Given the description of an element on the screen output the (x, y) to click on. 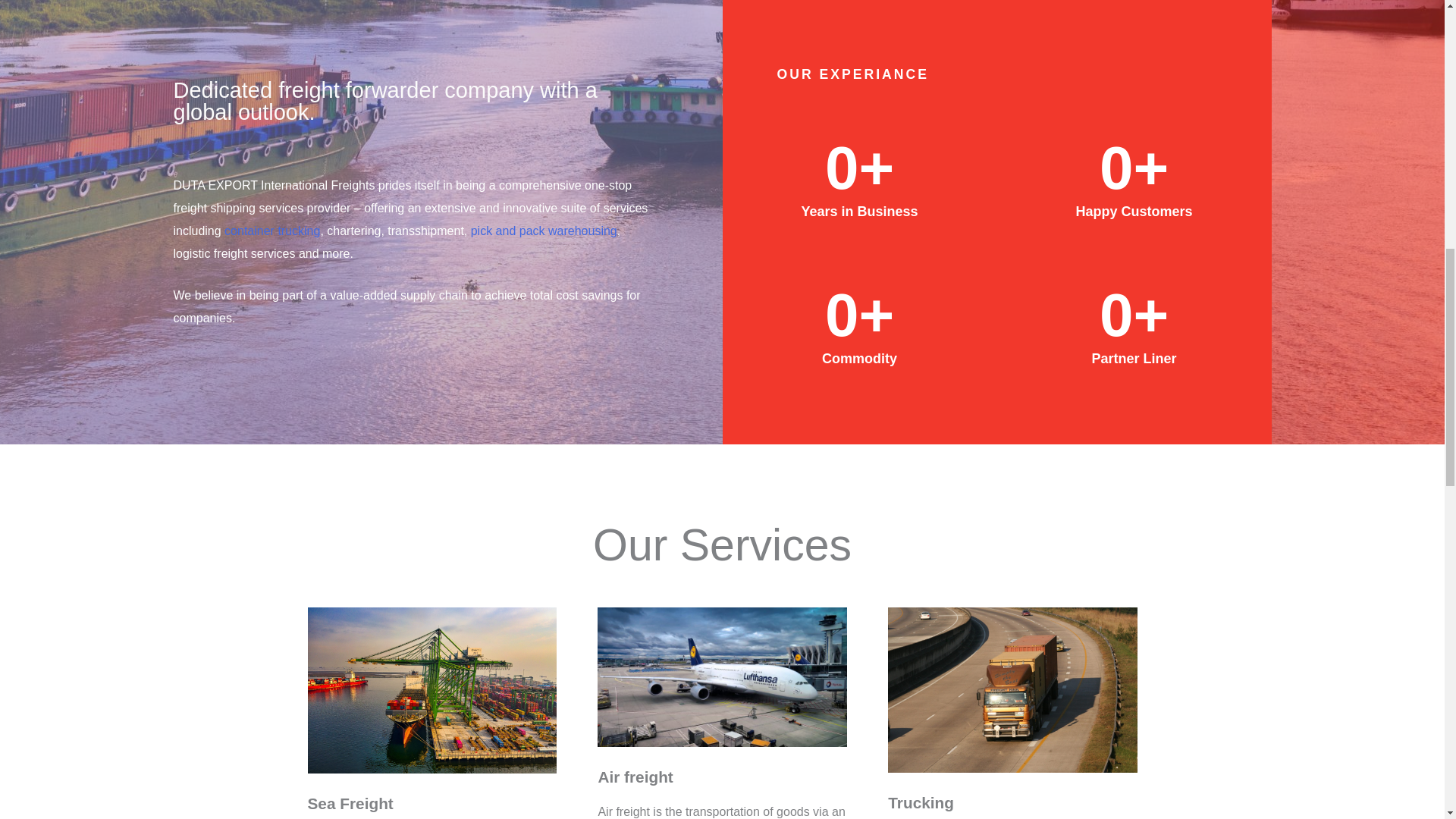
Trucking (920, 802)
Air freight (634, 776)
Sea Freight (350, 803)
container trucking (272, 230)
pick and pack warehousing (543, 230)
